Given the description of an element on the screen output the (x, y) to click on. 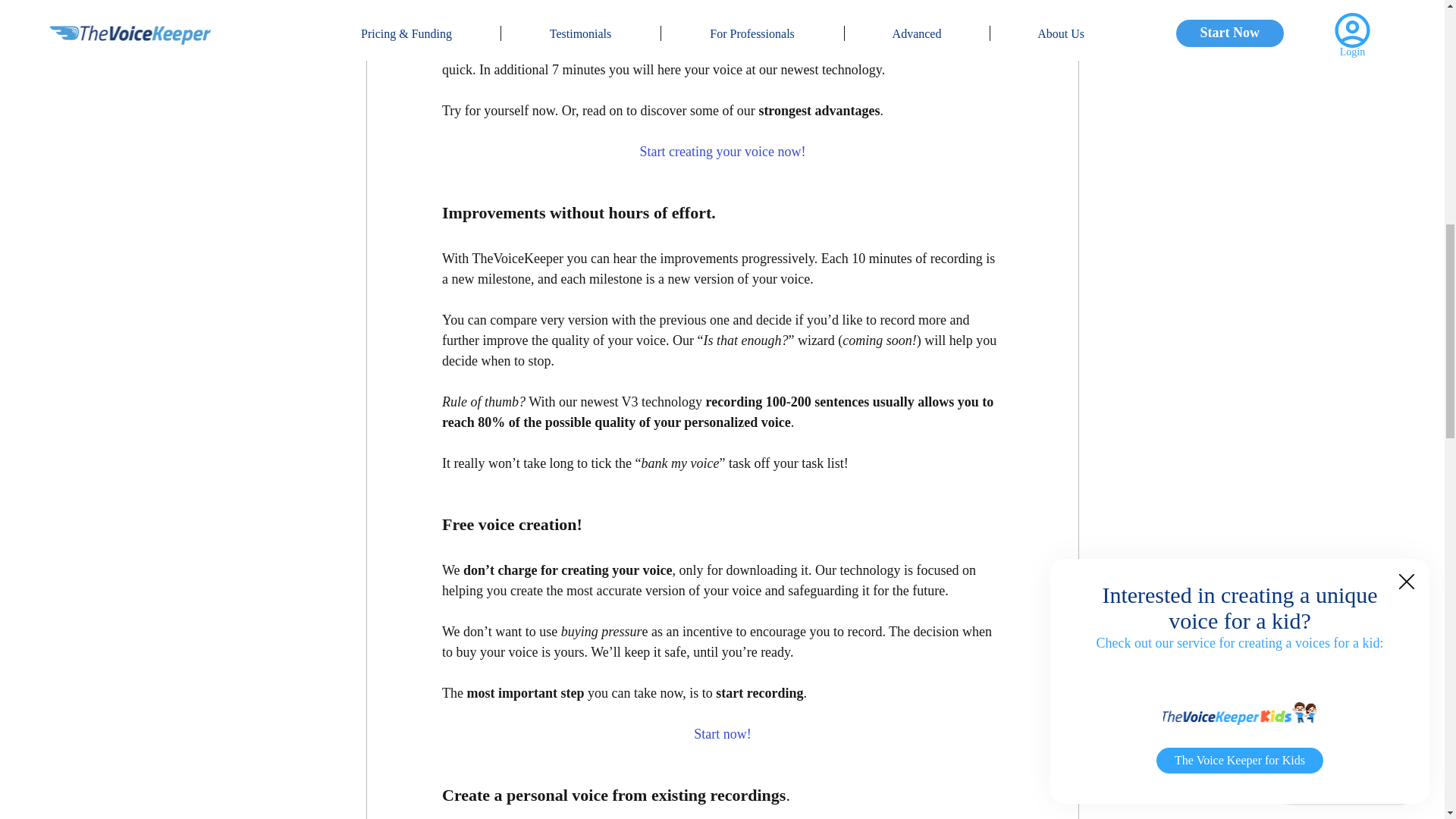
Start now! (722, 734)
Start creating your voice now! (722, 151)
